Given the description of an element on the screen output the (x, y) to click on. 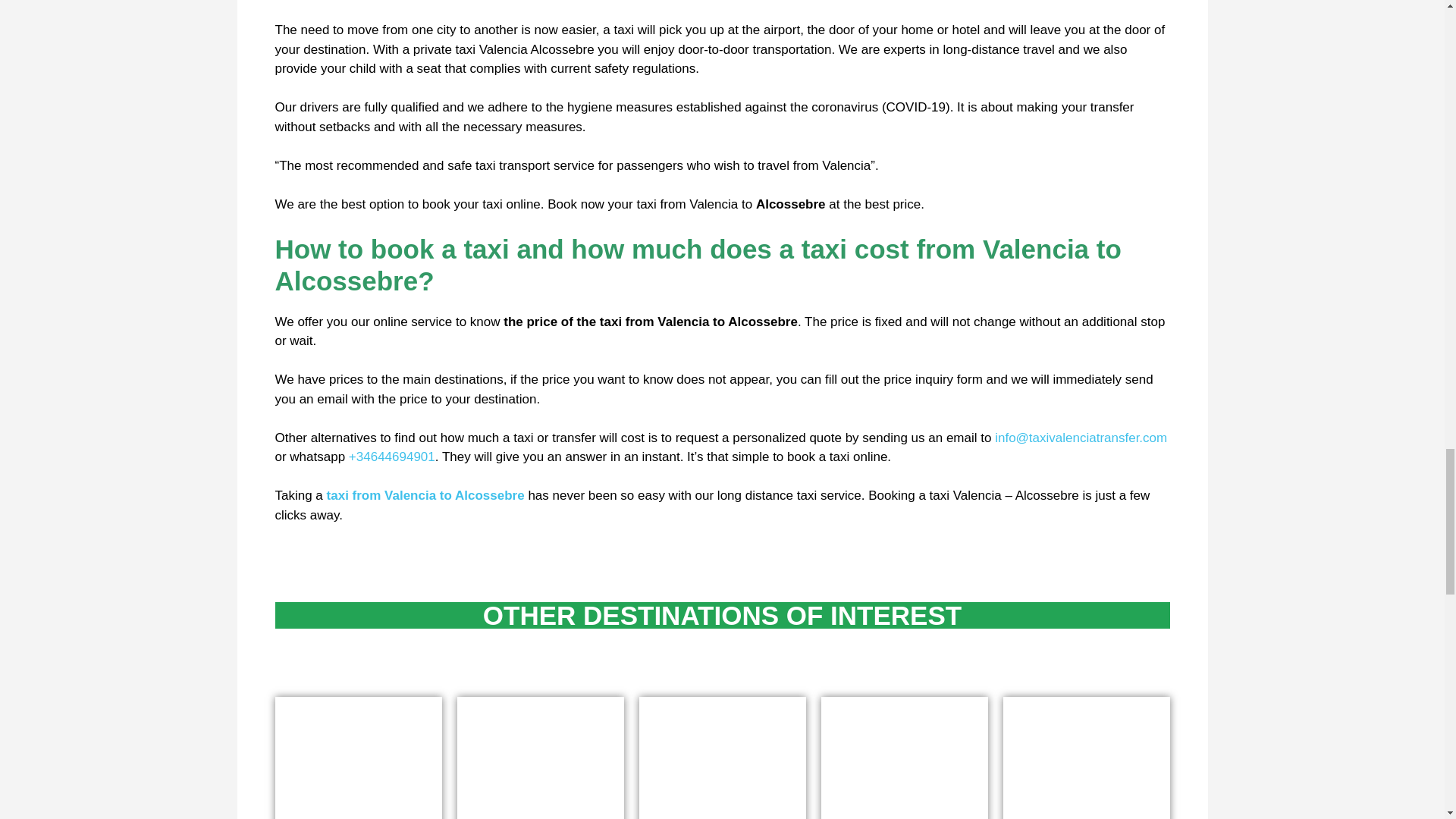
taxi from Valencia to Alcossebre  (425, 495)
